Given the description of an element on the screen output the (x, y) to click on. 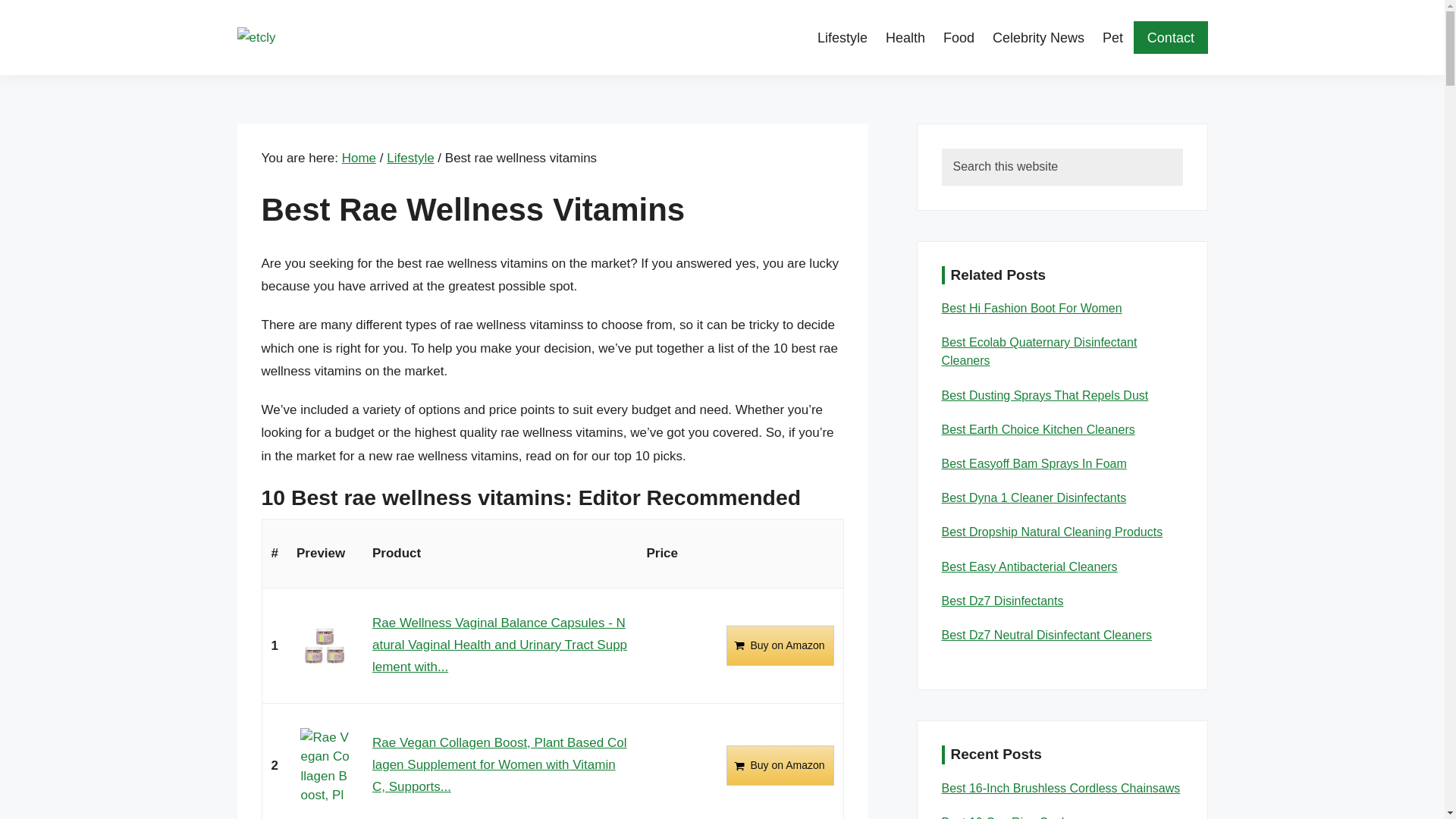
Celebrity News (1037, 37)
Buy on Amazon (779, 645)
Lifestyle (410, 157)
Buy on Amazon (779, 645)
Search (1205, 163)
Food (958, 37)
Buy on Amazon (779, 765)
Home (358, 157)
